Given the description of an element on the screen output the (x, y) to click on. 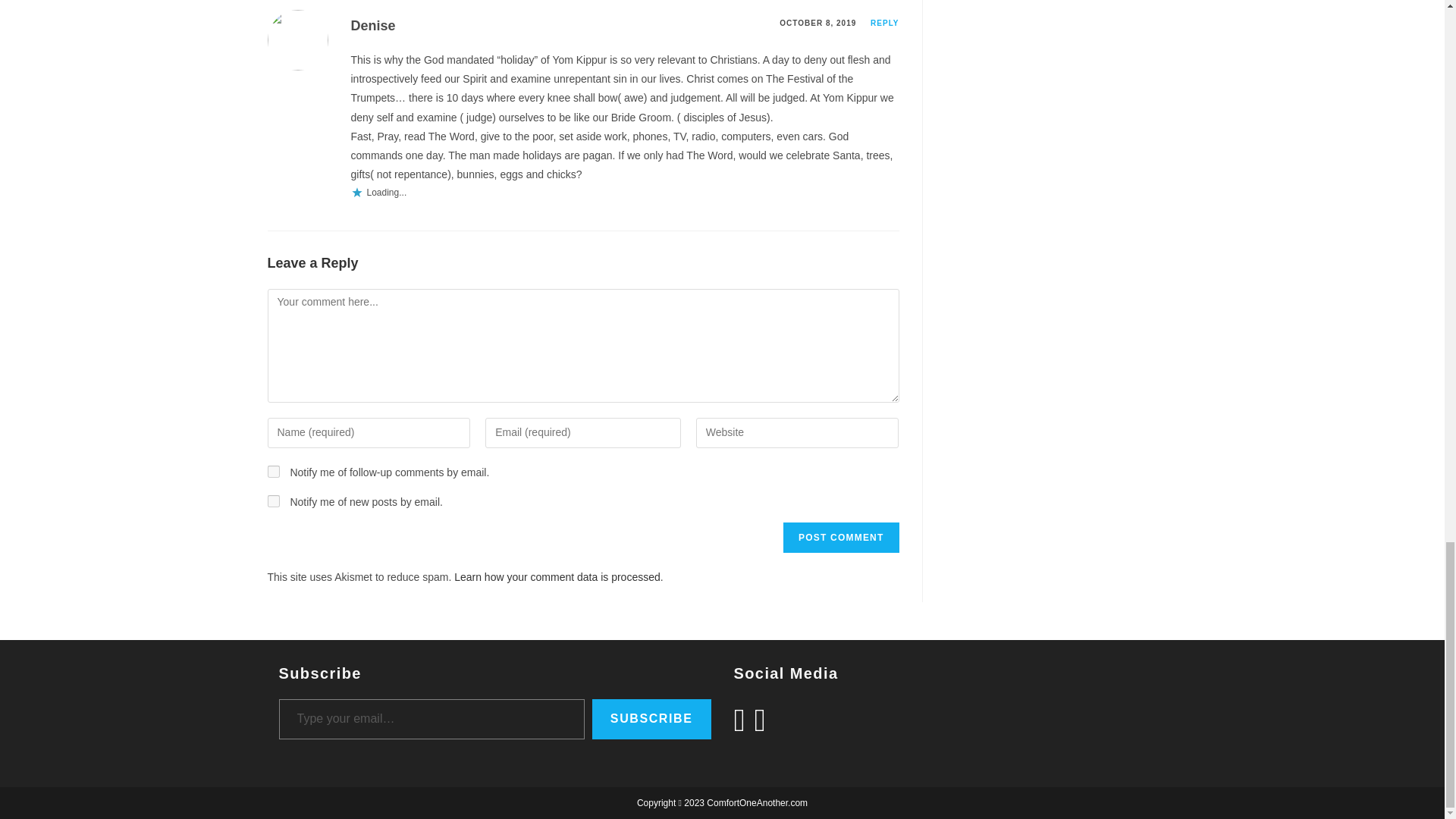
Post Comment (840, 537)
subscribe (272, 500)
Post Comment (840, 537)
REPLY (884, 22)
Learn how your comment data is processed (557, 576)
subscribe (272, 471)
